Given the description of an element on the screen output the (x, y) to click on. 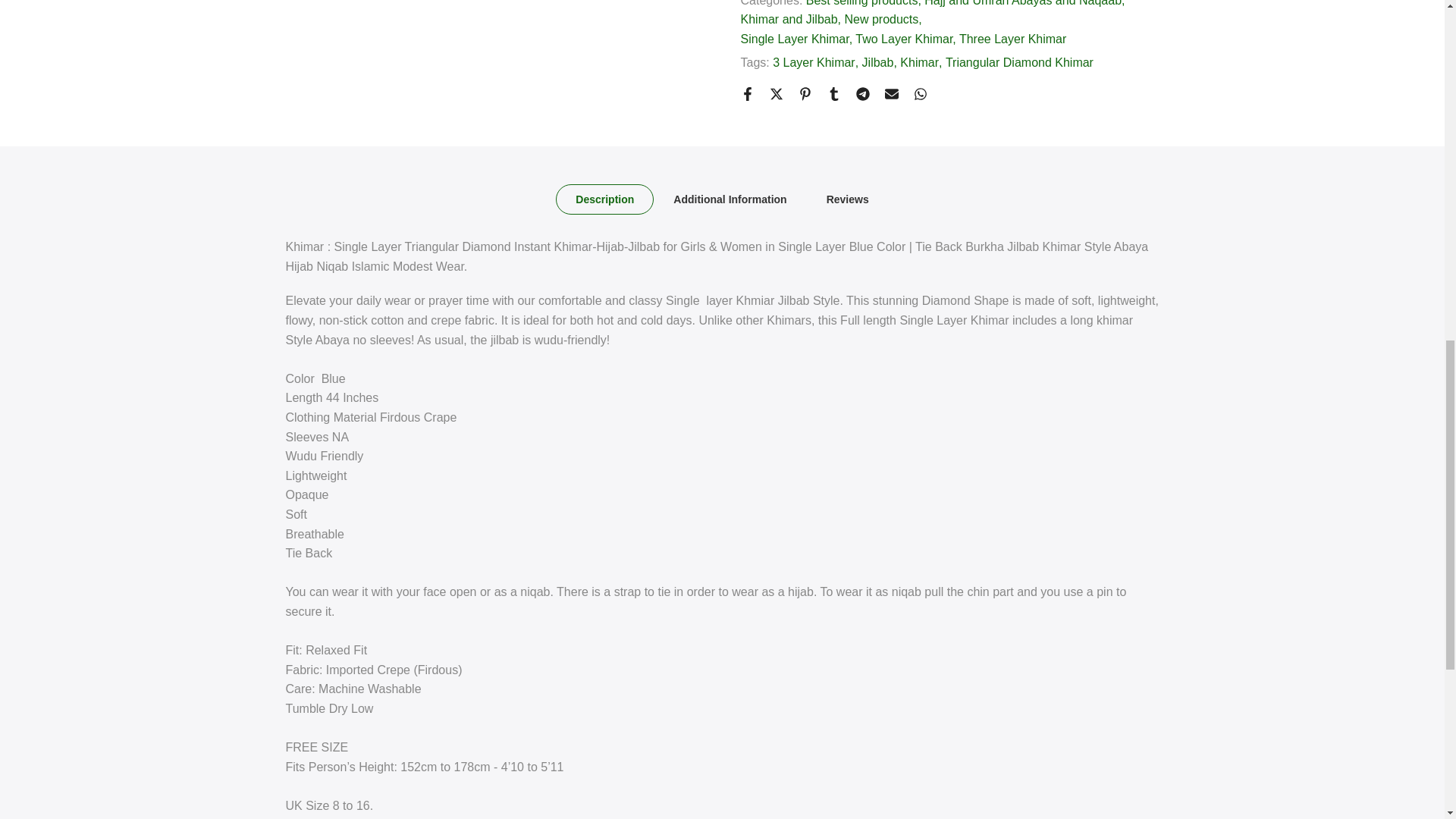
Share on Facebook (746, 93)
Share on WhatsApp (919, 93)
Share on Pinterest (803, 93)
Share on Email (890, 93)
Share on Telegram (862, 93)
Share on Tumblr (833, 93)
Share on Twitter (775, 93)
